Given the description of an element on the screen output the (x, y) to click on. 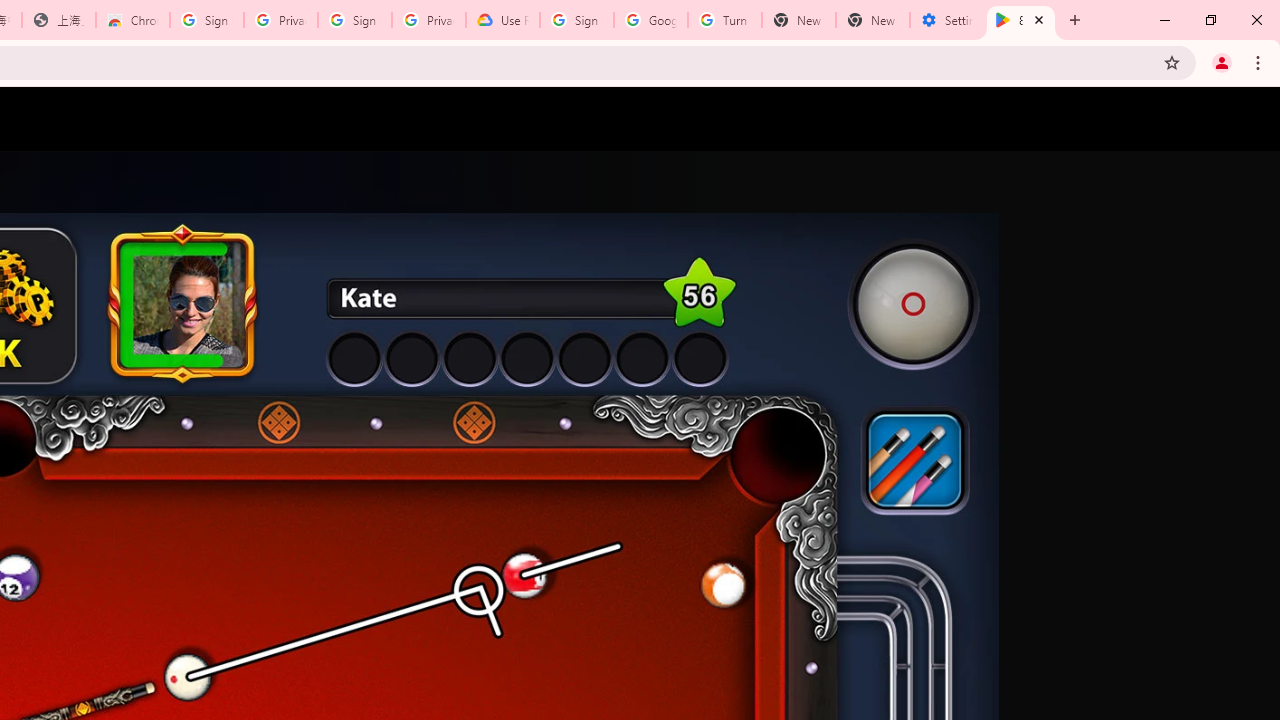
Open account menu (1245, 119)
New Tab (872, 20)
